Given the description of an element on the screen output the (x, y) to click on. 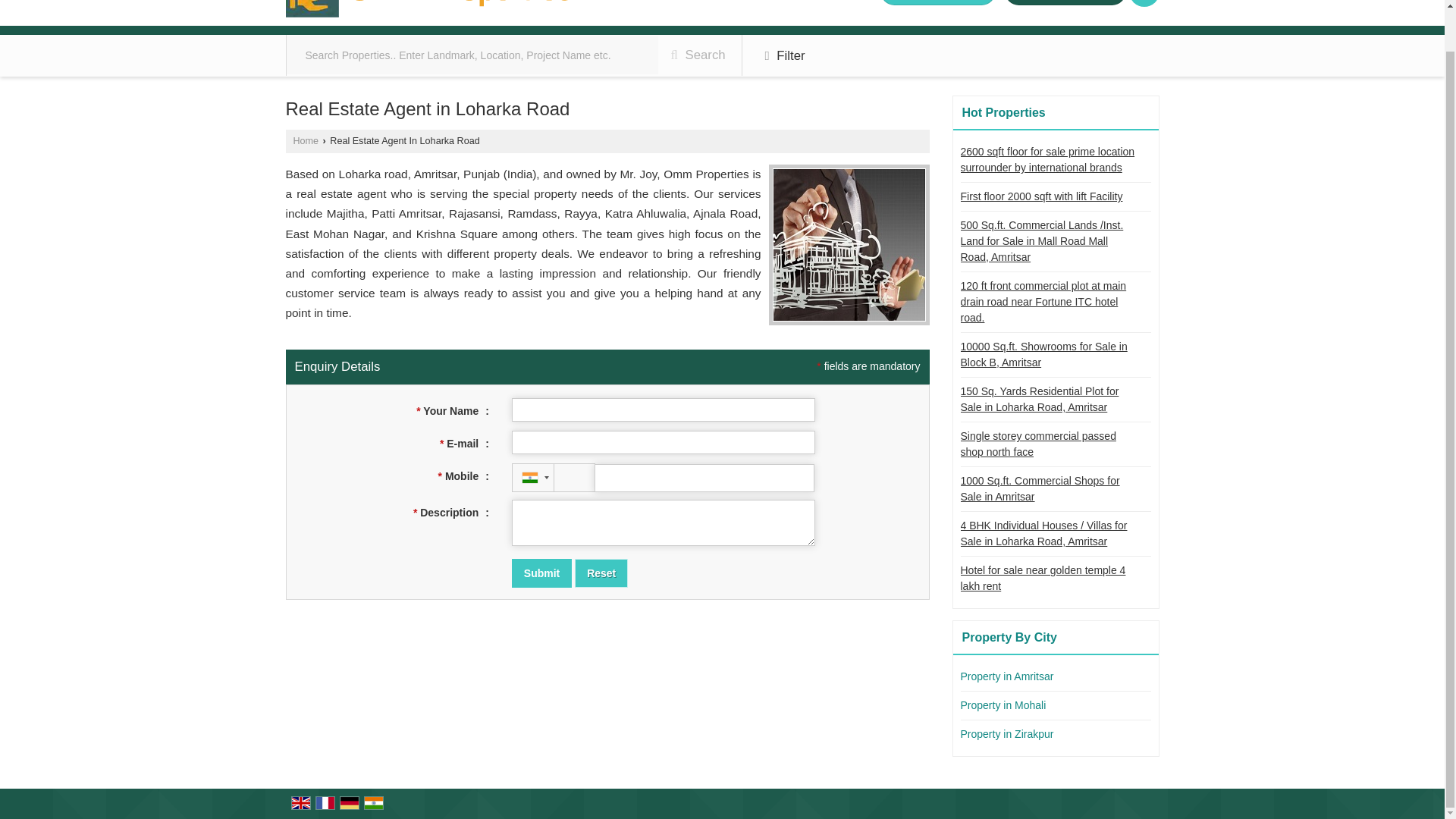
Omm properties (428, 9)
Send SMS (937, 2)
Search (1143, 3)
Home (305, 140)
Search (698, 55)
Send Email (1064, 2)
Filter (785, 55)
Reset (601, 573)
Submit (542, 573)
